Given the description of an element on the screen output the (x, y) to click on. 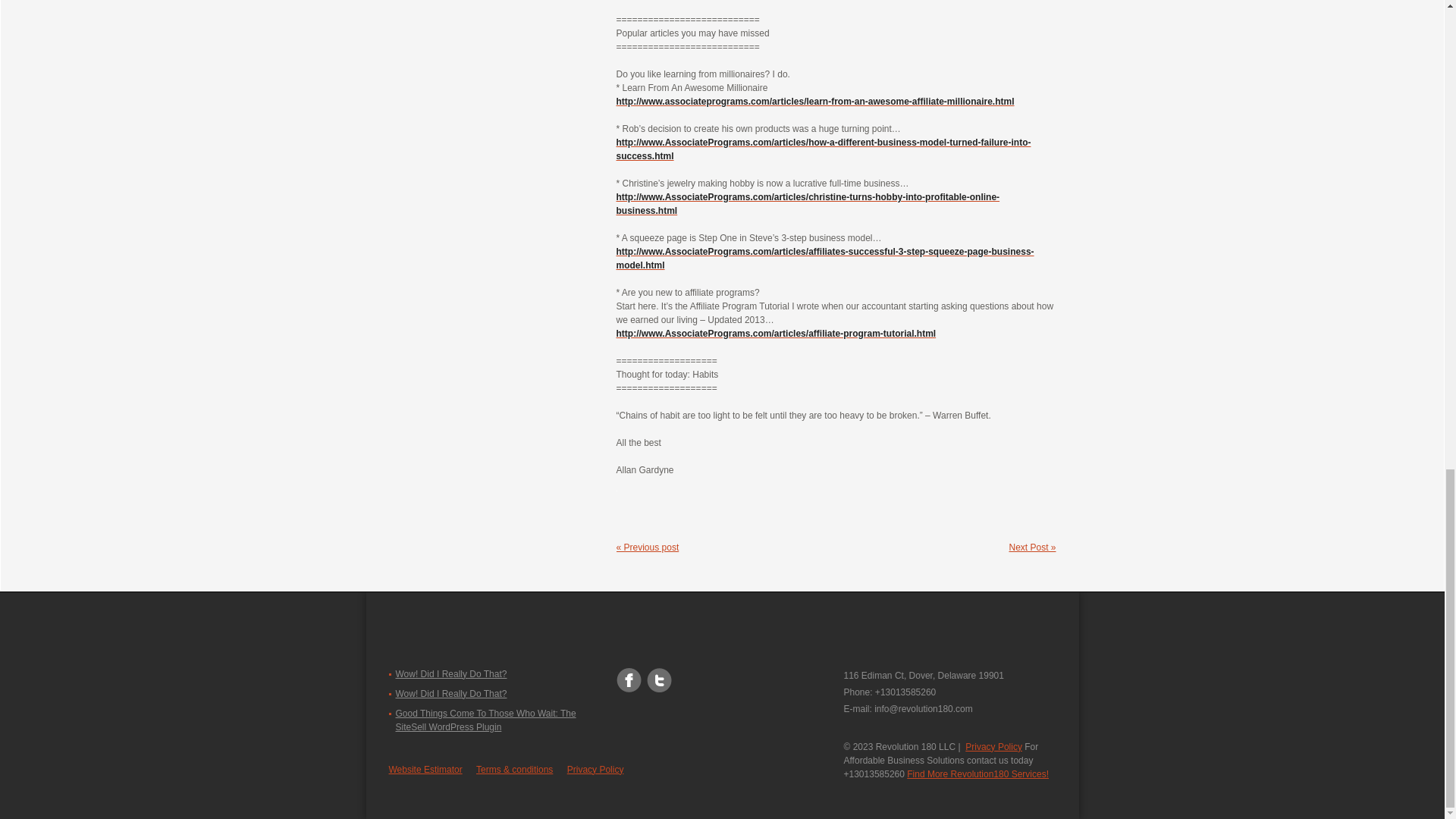
Privacy Policy (993, 747)
Find More Revolution180 Services! (977, 774)
Wow! Did I Really Do That? (451, 693)
facebook (627, 674)
Website Estimator (424, 769)
twitter (658, 674)
Privacy Policy (993, 747)
Solutions (977, 774)
Wow! Did I Really Do That? (451, 674)
Advertisement (483, 49)
Privacy Policy (595, 769)
